Given the description of an element on the screen output the (x, y) to click on. 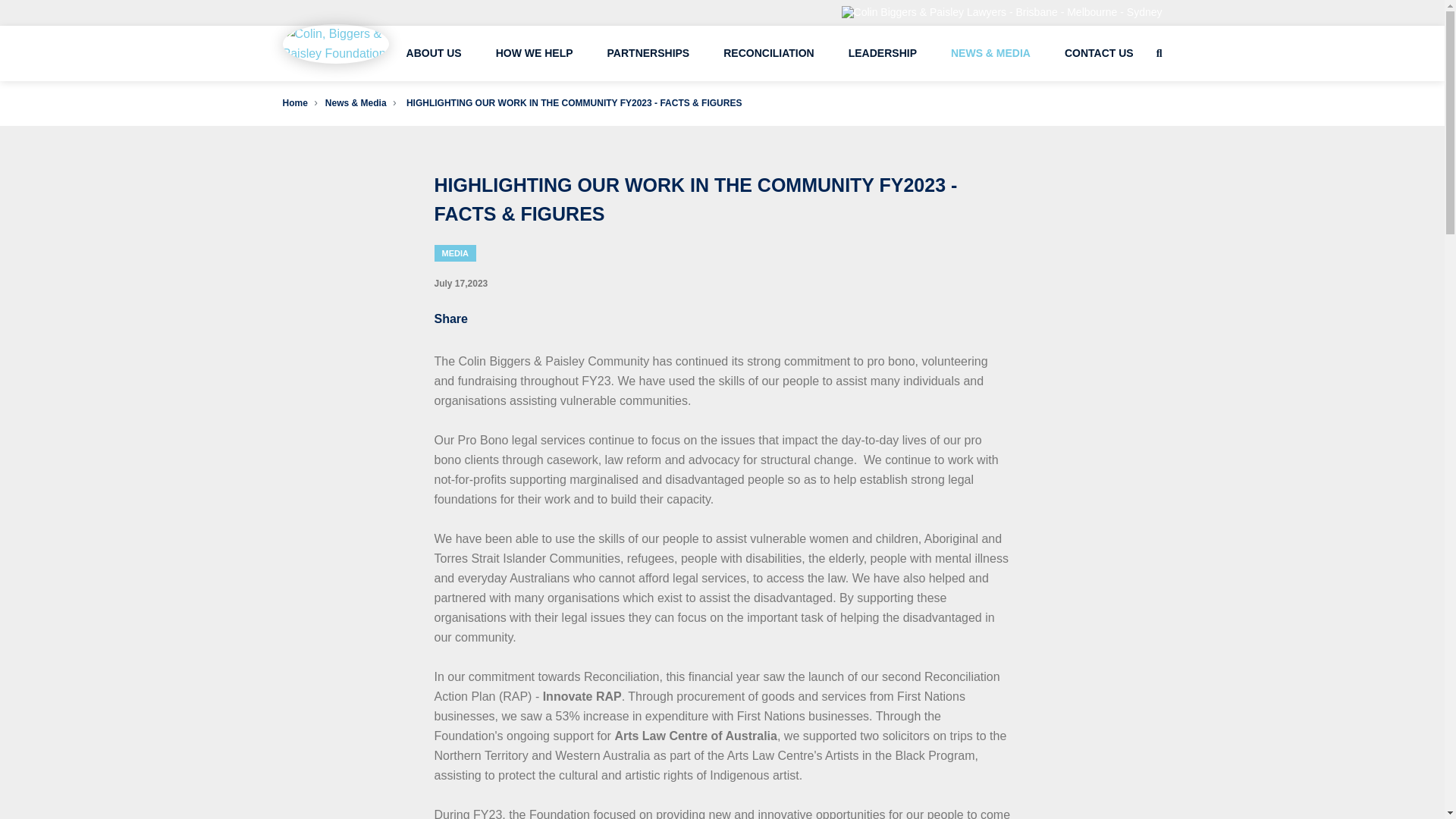
PARTNERSHIPS (648, 53)
Search (1093, 110)
ABOUT US (433, 53)
HOW WE HELP (534, 53)
Innovate RAP (582, 696)
CONTACT US (1099, 53)
RECONCILIATION (768, 53)
Arts Law Centre of Australia (695, 735)
LEADERSHIP (882, 53)
Home (294, 102)
